Given the description of an element on the screen output the (x, y) to click on. 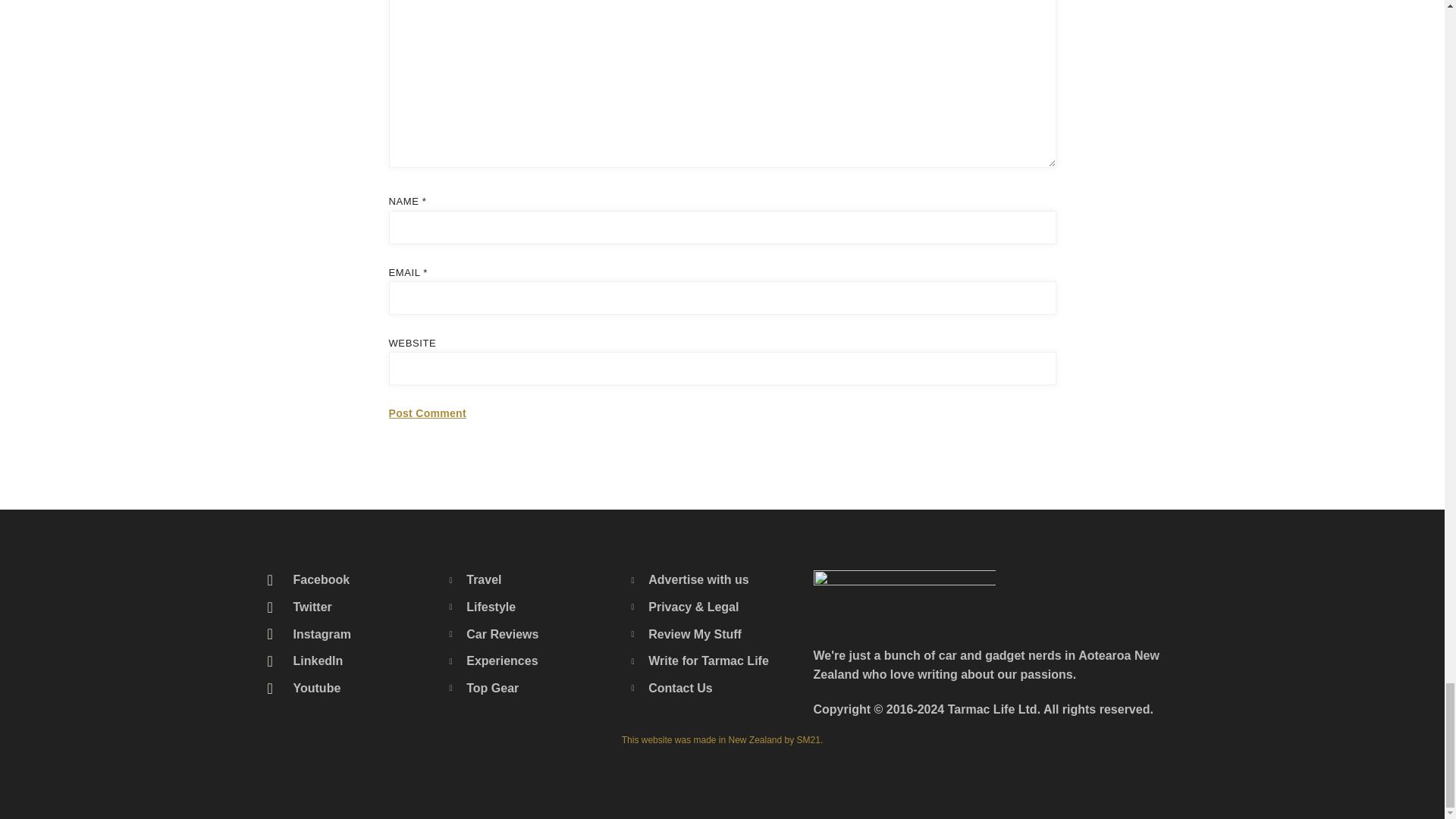
Post Comment (426, 413)
